Given the description of an element on the screen output the (x, y) to click on. 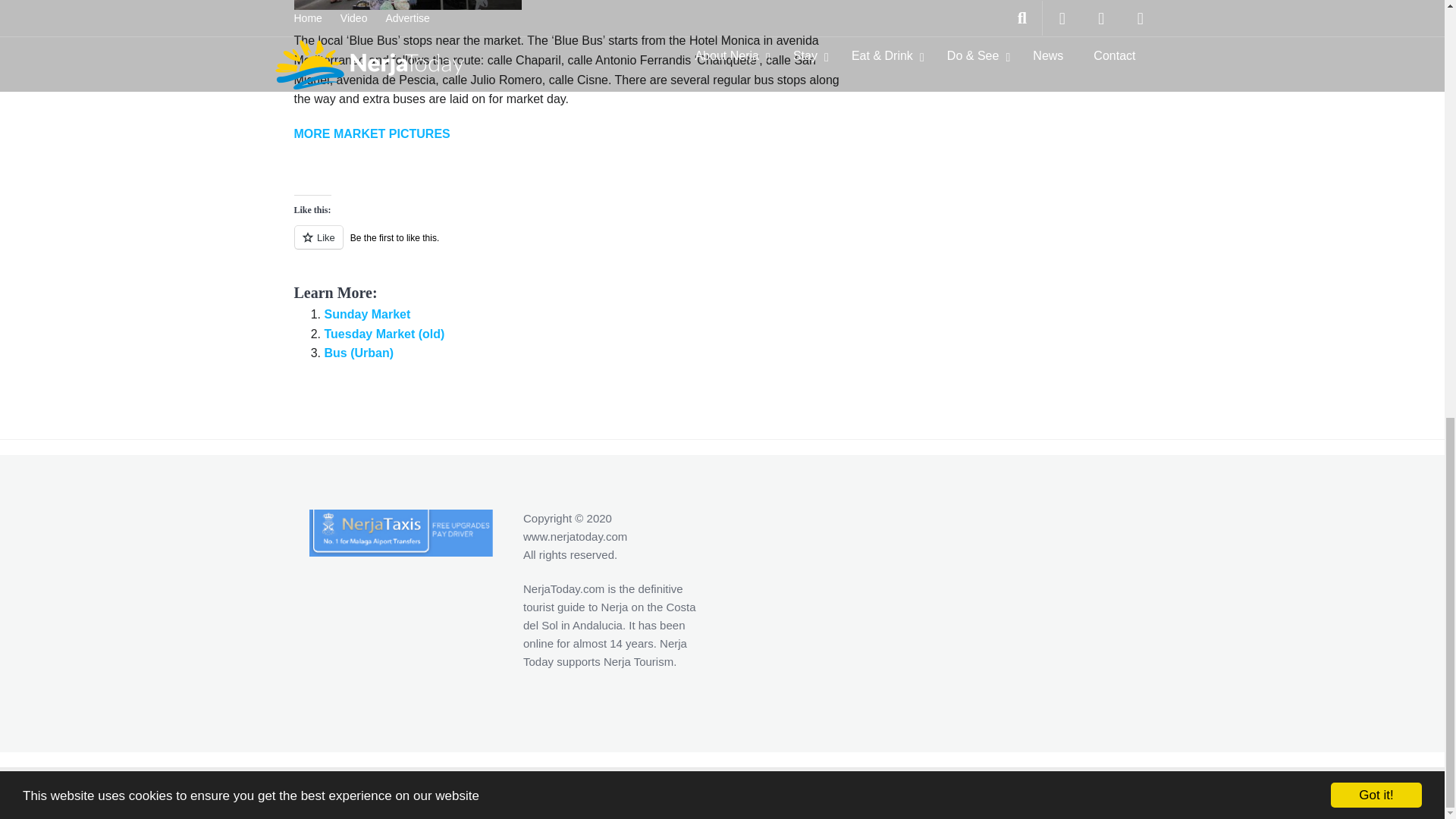
market3 (407, 4)
Sunday Market (367, 314)
Nerja Tuesday Market (371, 133)
